Given the description of an element on the screen output the (x, y) to click on. 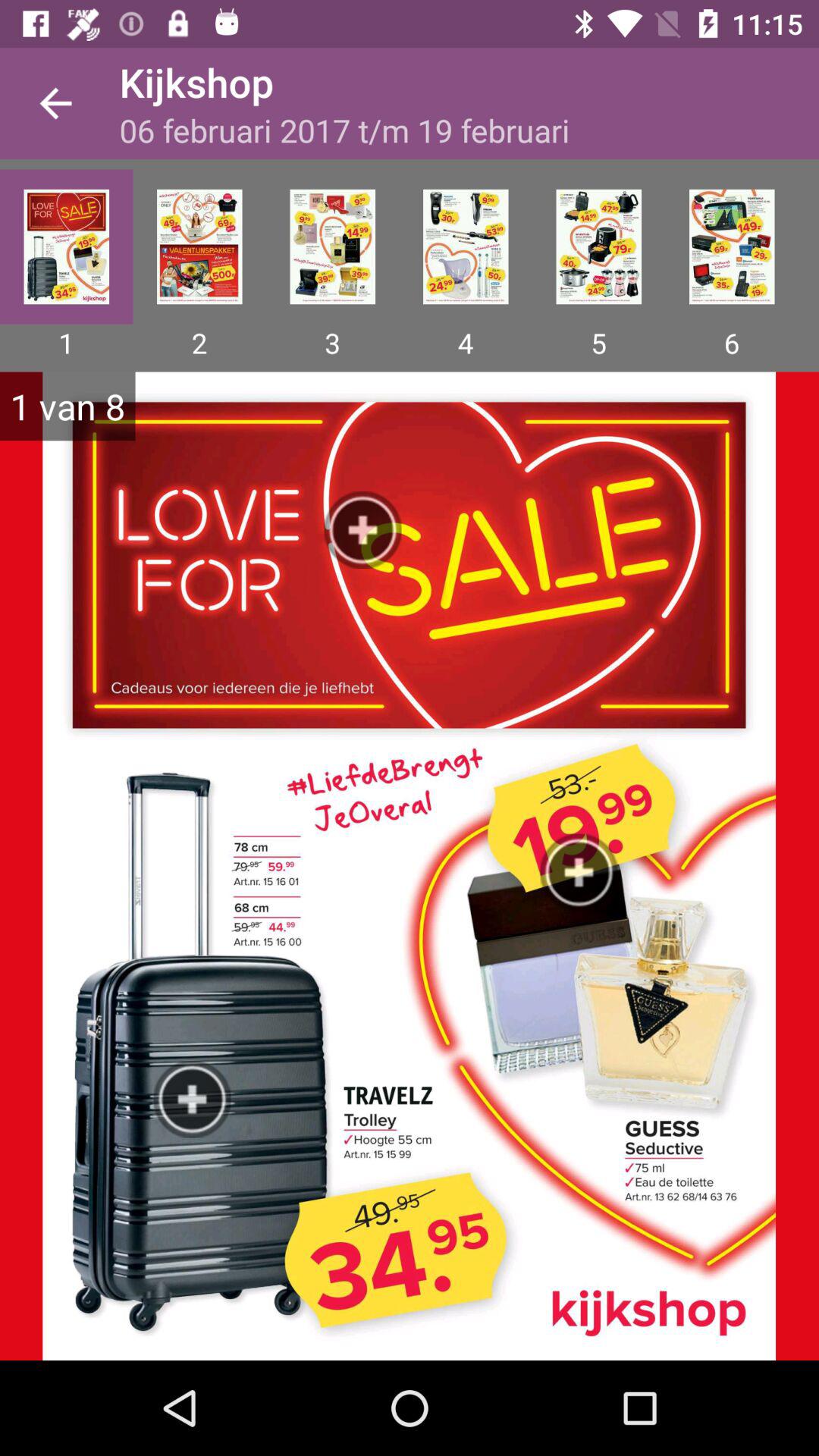
tap item next to the kijkshop (55, 103)
